Given the description of an element on the screen output the (x, y) to click on. 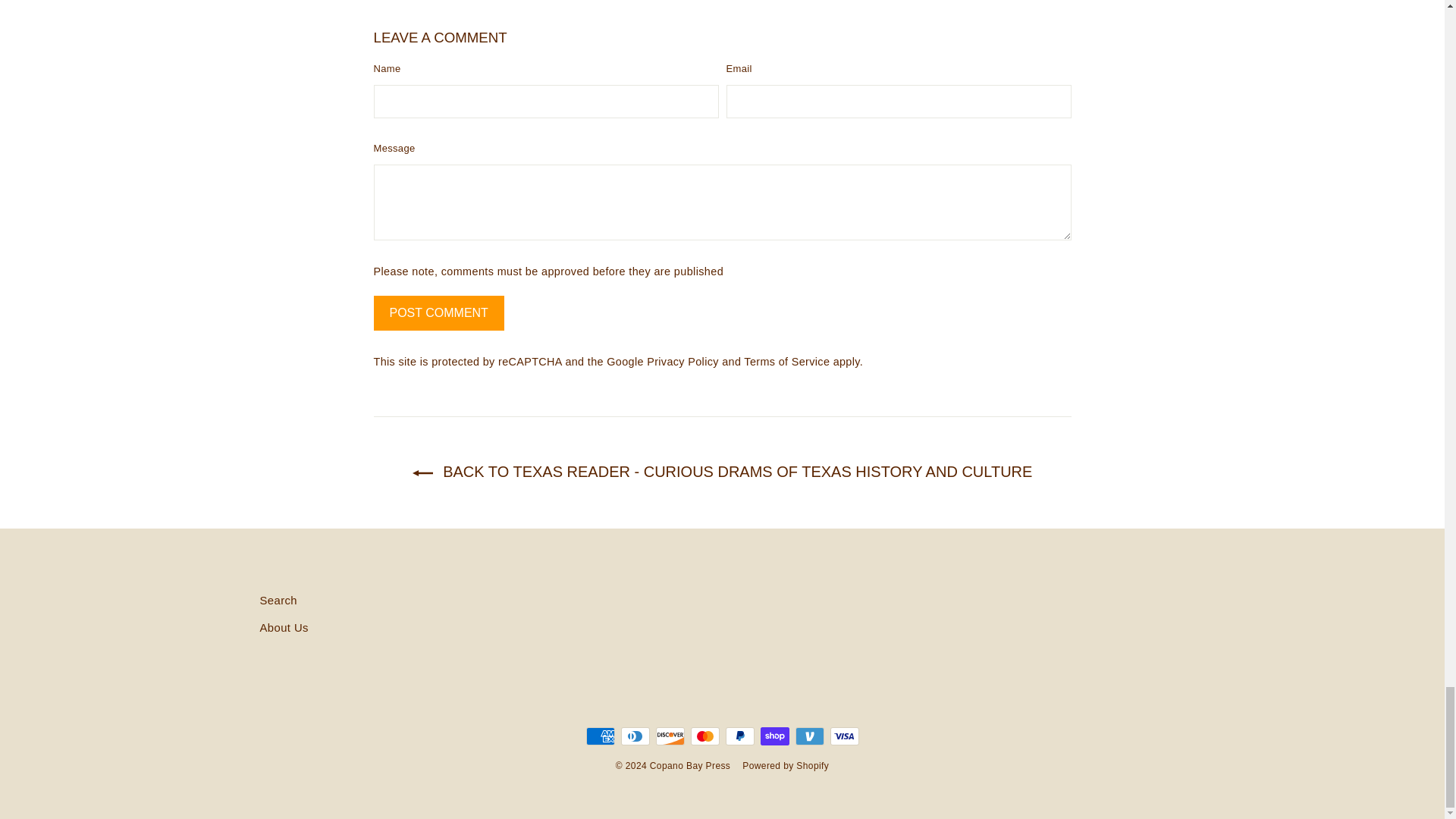
American Express (599, 736)
Mastercard (704, 736)
Privacy Policy (682, 361)
Post comment (437, 313)
Visa (844, 736)
ICON-LEFT-ARROW (422, 473)
Post comment (437, 313)
Diners Club (634, 736)
PayPal (739, 736)
Terms of Service (786, 361)
